Given the description of an element on the screen output the (x, y) to click on. 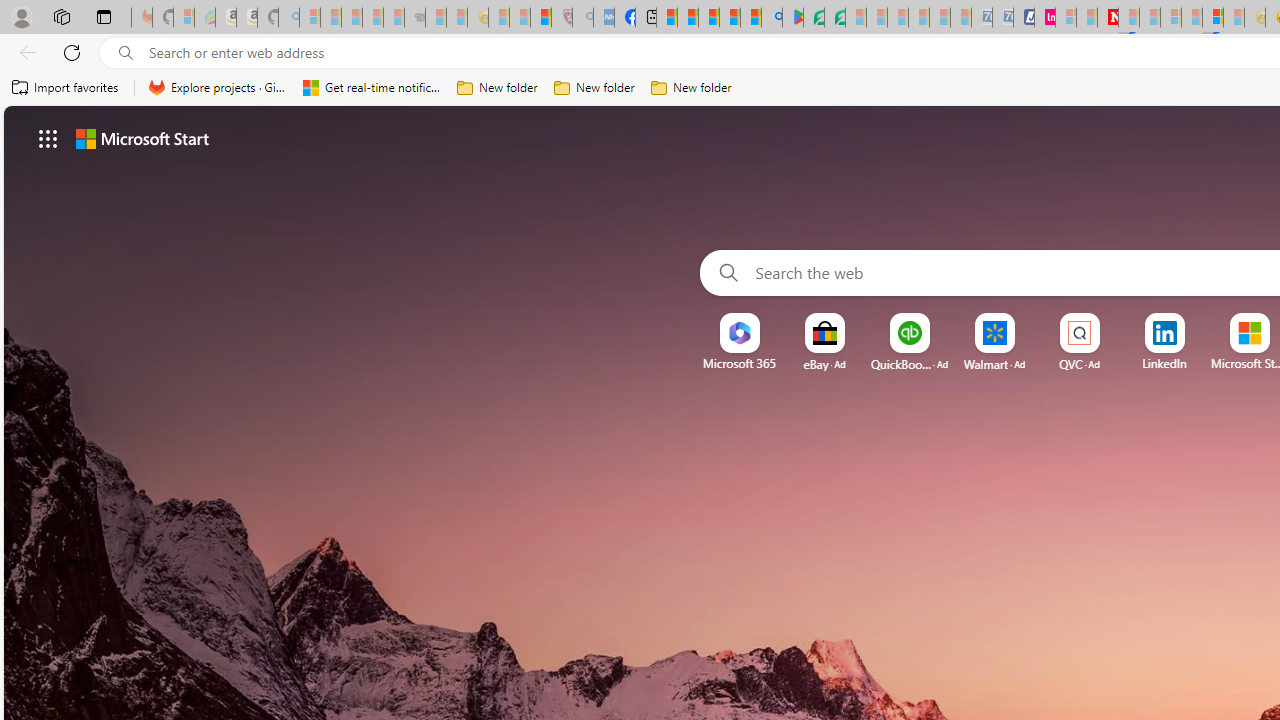
App launcher (47, 138)
Latest Politics News & Archive | Newsweek.com (1107, 17)
Terms of Use Agreement (813, 17)
LinkedIn (1163, 363)
